Given the description of an element on the screen output the (x, y) to click on. 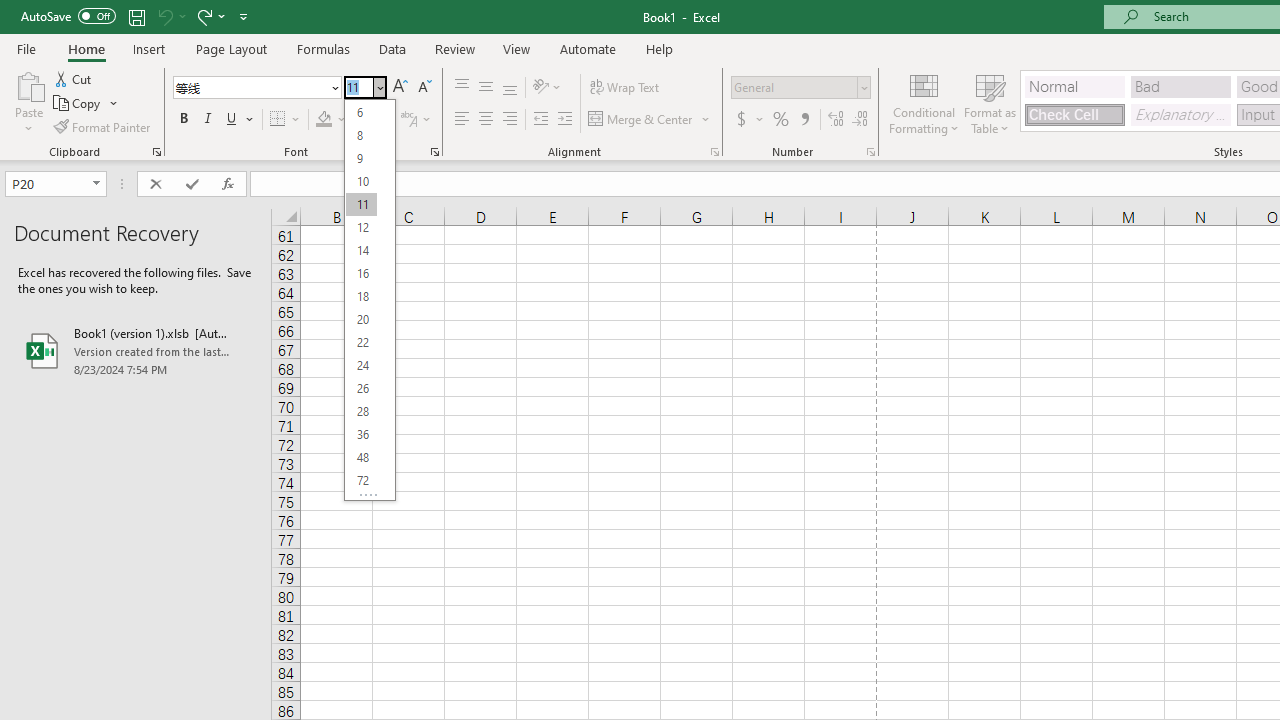
Middle Align (485, 87)
Page Layout (230, 48)
System (10, 11)
Redo (209, 15)
Format Cell Number (870, 151)
72 (361, 479)
36 (361, 434)
Italic (207, 119)
Font Color RGB(255, 0, 0) (362, 119)
Format Cell Font (434, 151)
Open (96, 183)
14 (361, 250)
8 (361, 134)
Normal (1074, 86)
Show Phonetic Field (408, 119)
